Given the description of an element on the screen output the (x, y) to click on. 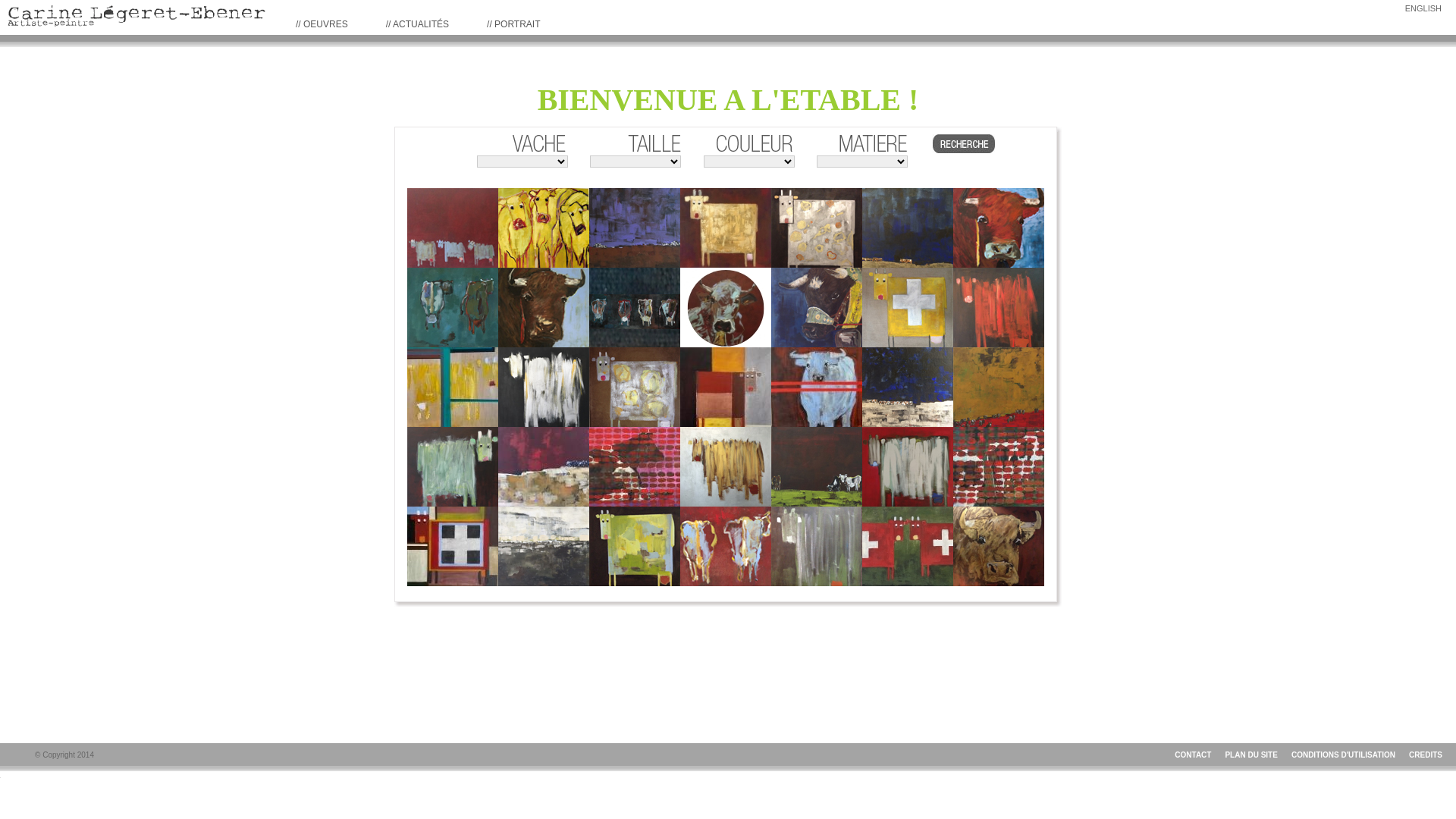
Stella Element type: hover (725, 307)
Nina Element type: hover (634, 546)
CONTACT Element type: text (1192, 754)
Automnale Element type: hover (998, 386)
Manhattan 2 Element type: hover (907, 466)
Chavira Element type: hover (816, 307)
Milor Element type: hover (452, 466)
Pomette Element type: hover (998, 227)
Isabelle Element type: hover (816, 546)
Tornade Element type: hover (543, 466)
Huit vingt Element type: hover (543, 546)
Aline Element type: hover (907, 307)
Sole Element type: hover (998, 546)
Trois vaches rouges Element type: hover (543, 227)
Cognac Element type: hover (452, 386)
CREDITS Element type: text (1425, 754)
Opus Element type: hover (452, 227)
Lara Element type: hover (816, 386)
La vadrouille Element type: hover (998, 466)
Le troupeau Element type: hover (907, 227)
La bande Element type: hover (634, 307)
Byzance Element type: hover (634, 466)
Silver Element type: hover (816, 227)
ENGLISH Element type: text (1423, 7)
Cosette Element type: hover (816, 466)
// PORTRAIT Element type: text (512, 23)
Pi-Pa Element type: hover (725, 546)
CONDITIONS D'UTILISATION Element type: text (1343, 754)
Prune Element type: hover (634, 227)
Gala Element type: hover (907, 386)
Rio Element type: hover (543, 386)
Baronne Element type: hover (725, 227)
Les culs Element type: hover (452, 307)
Princesse Element type: hover (725, 466)
PLAN DU SITE Element type: text (1250, 754)
Rhum Element type: hover (725, 386)
// OEUVRES Element type: text (321, 23)
LilI Element type: hover (452, 546)
